Given the description of an element on the screen output the (x, y) to click on. 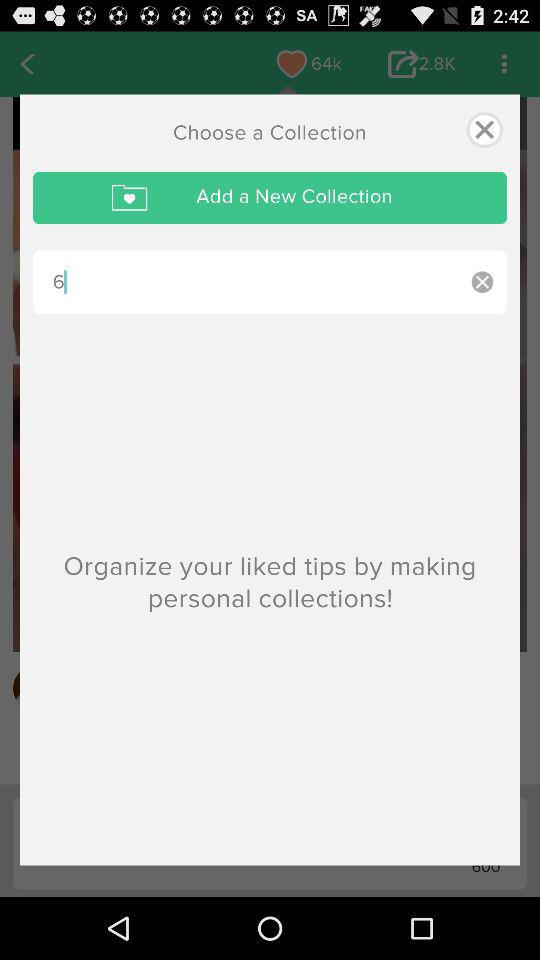
close the window (484, 129)
